Given the description of an element on the screen output the (x, y) to click on. 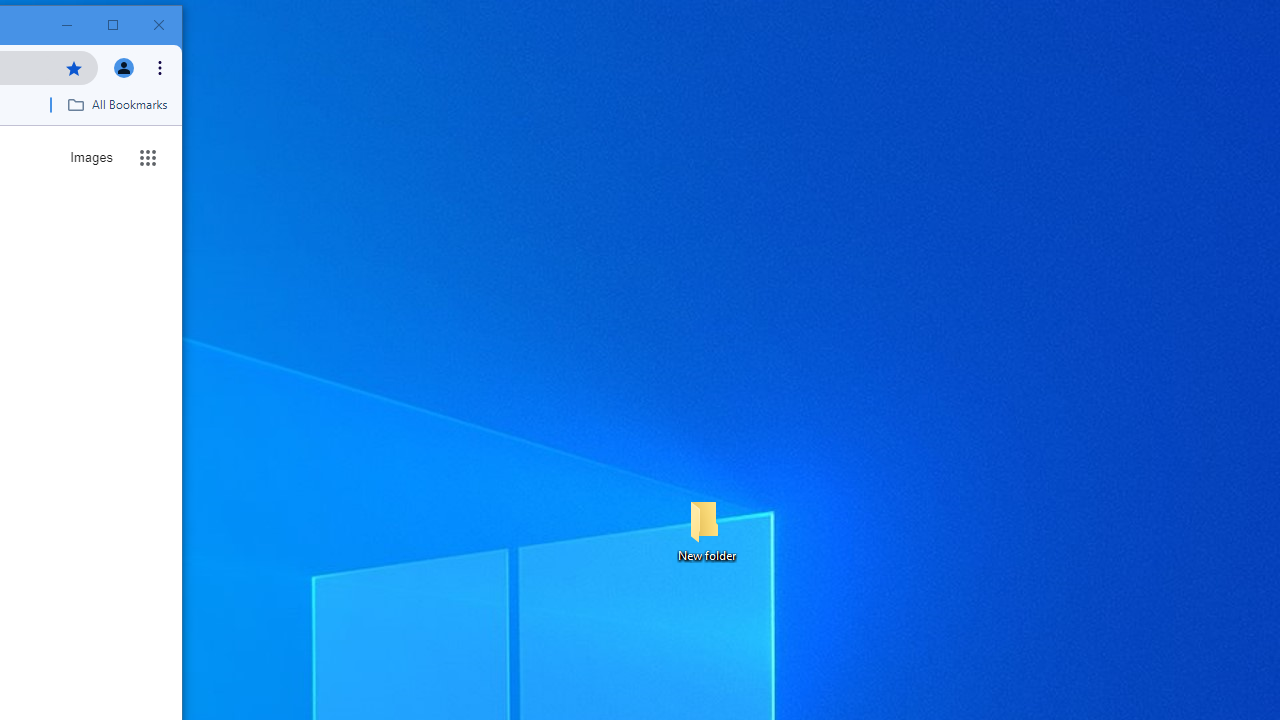
New folder (706, 530)
